Given the description of an element on the screen output the (x, y) to click on. 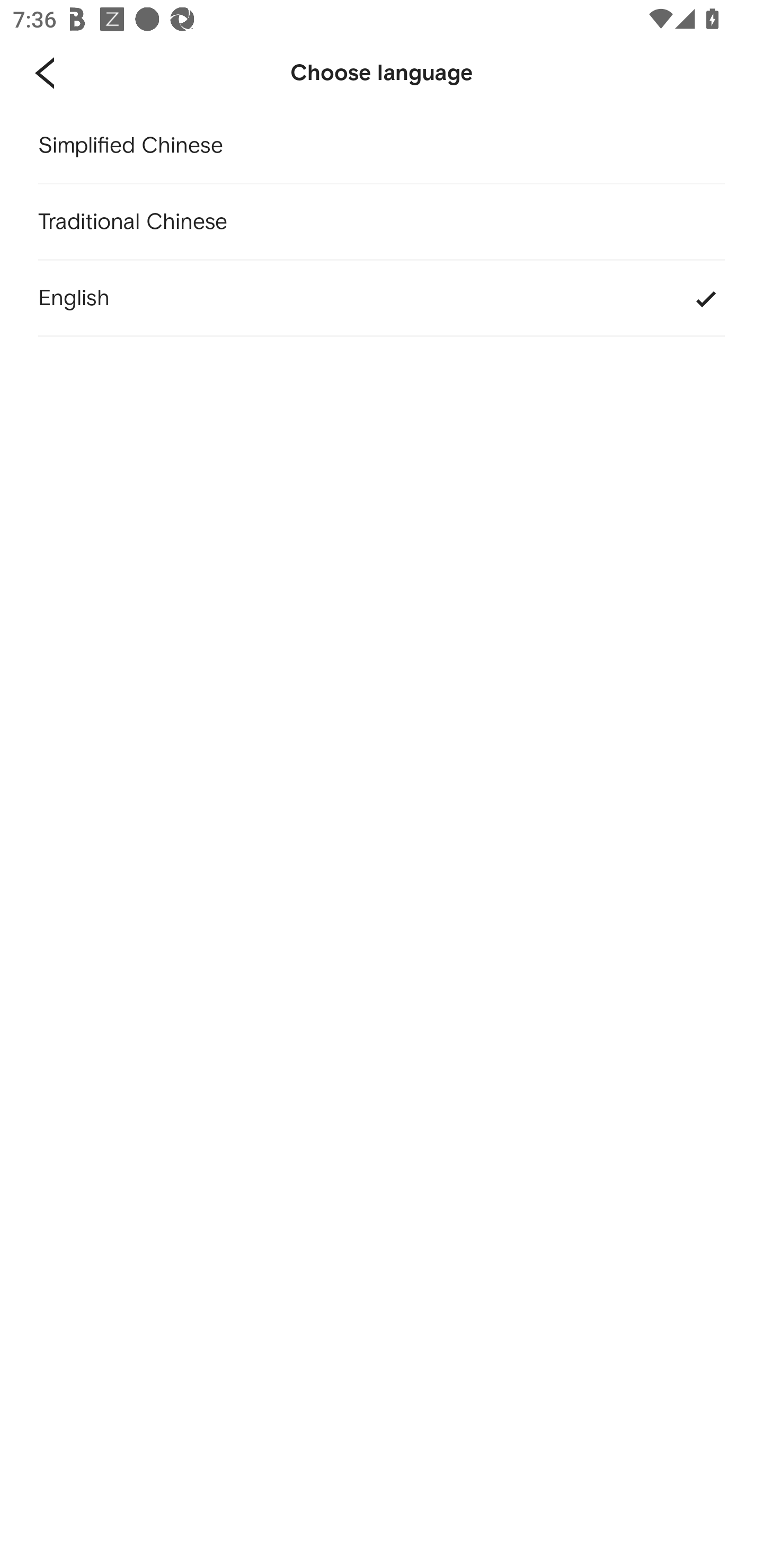
Simplified Chinese (381, 146)
Traditional Chinese (381, 222)
English (381, 298)
